Given the description of an element on the screen output the (x, y) to click on. 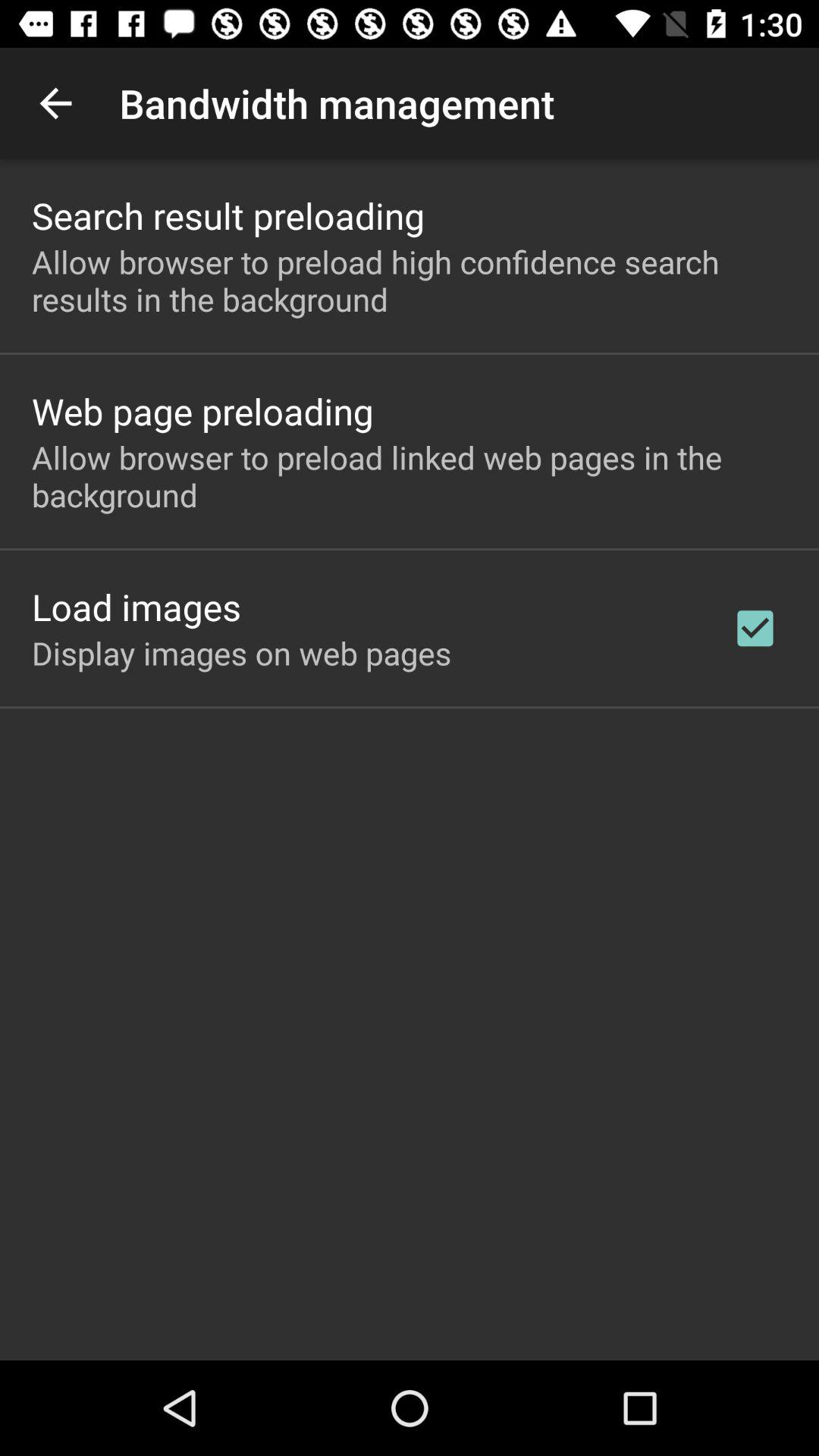
click the app below the load images app (241, 652)
